Given the description of an element on the screen output the (x, y) to click on. 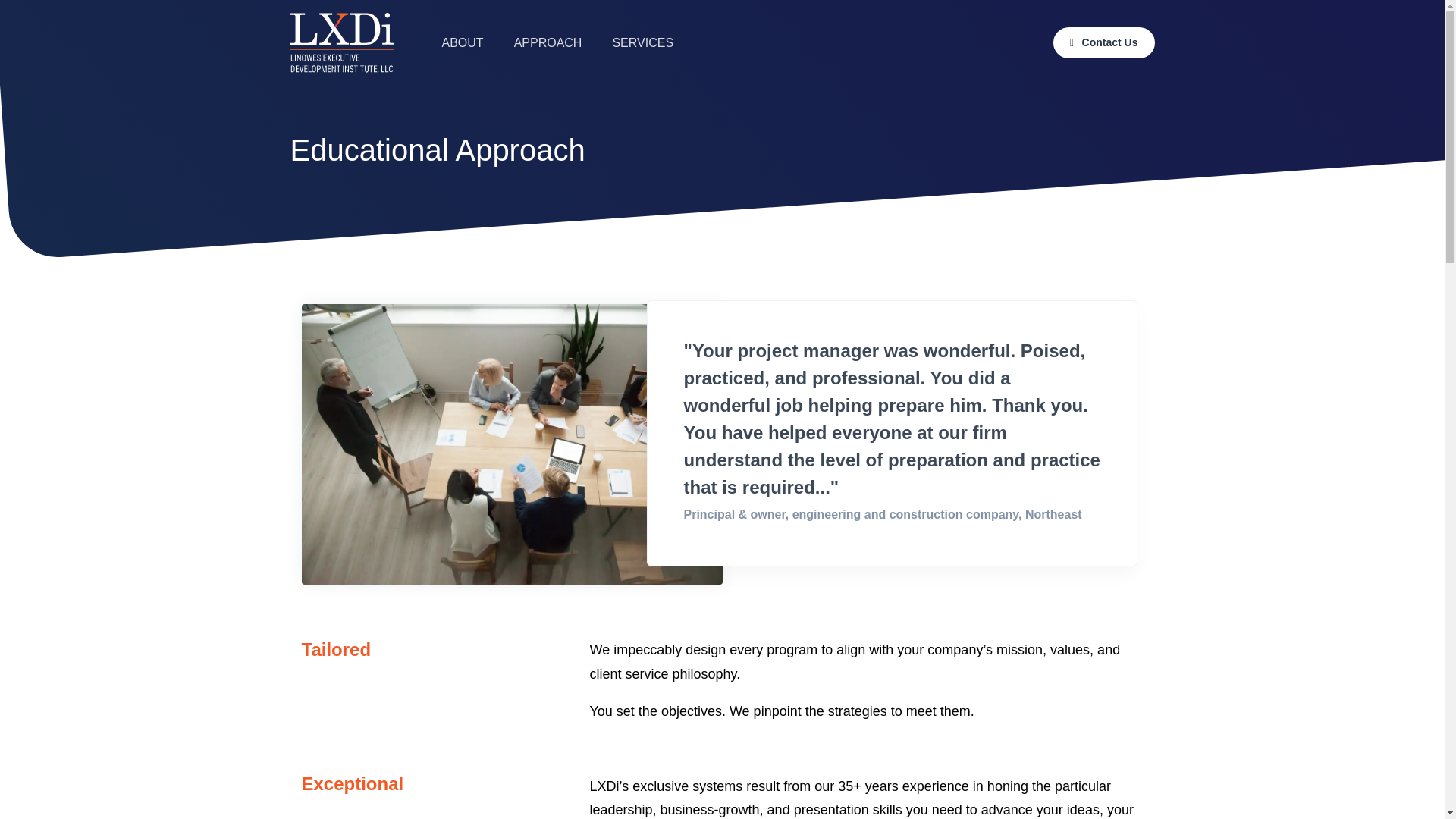
APPROACH (548, 42)
SERVICES (642, 42)
Contact Us (1103, 42)
ABOUT (462, 42)
